Given the description of an element on the screen output the (x, y) to click on. 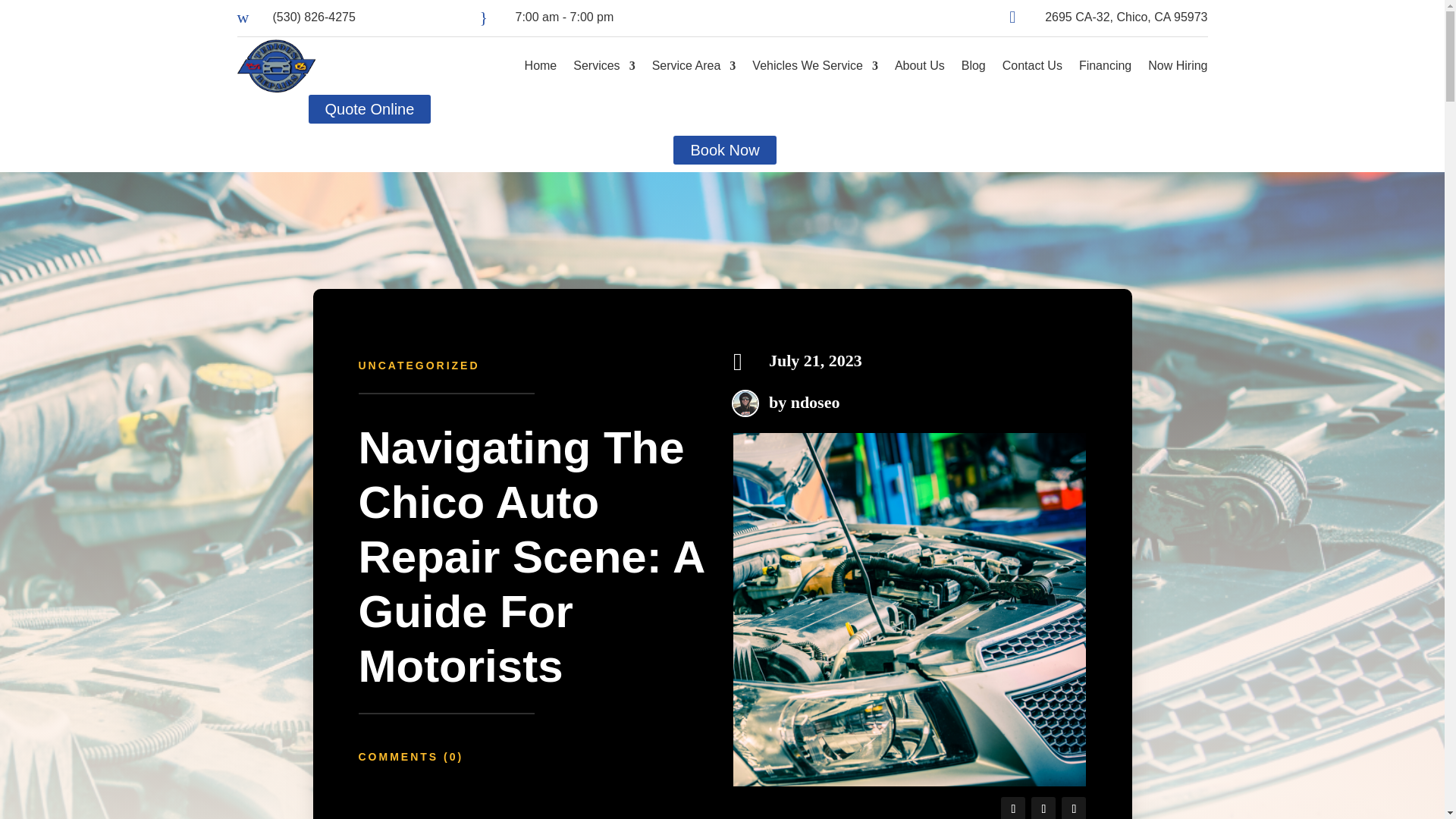
Follow on Facebook (1013, 807)
Follow on X (1042, 807)
Services (603, 65)
w (247, 17)
2695 CA-32, Chico, CA 95973 (1126, 16)
7:00 am - 7:00 pm (564, 16)
Follow on Youtube (1073, 807)
chico auto repair 13 (909, 609)
